Given the description of an element on the screen output the (x, y) to click on. 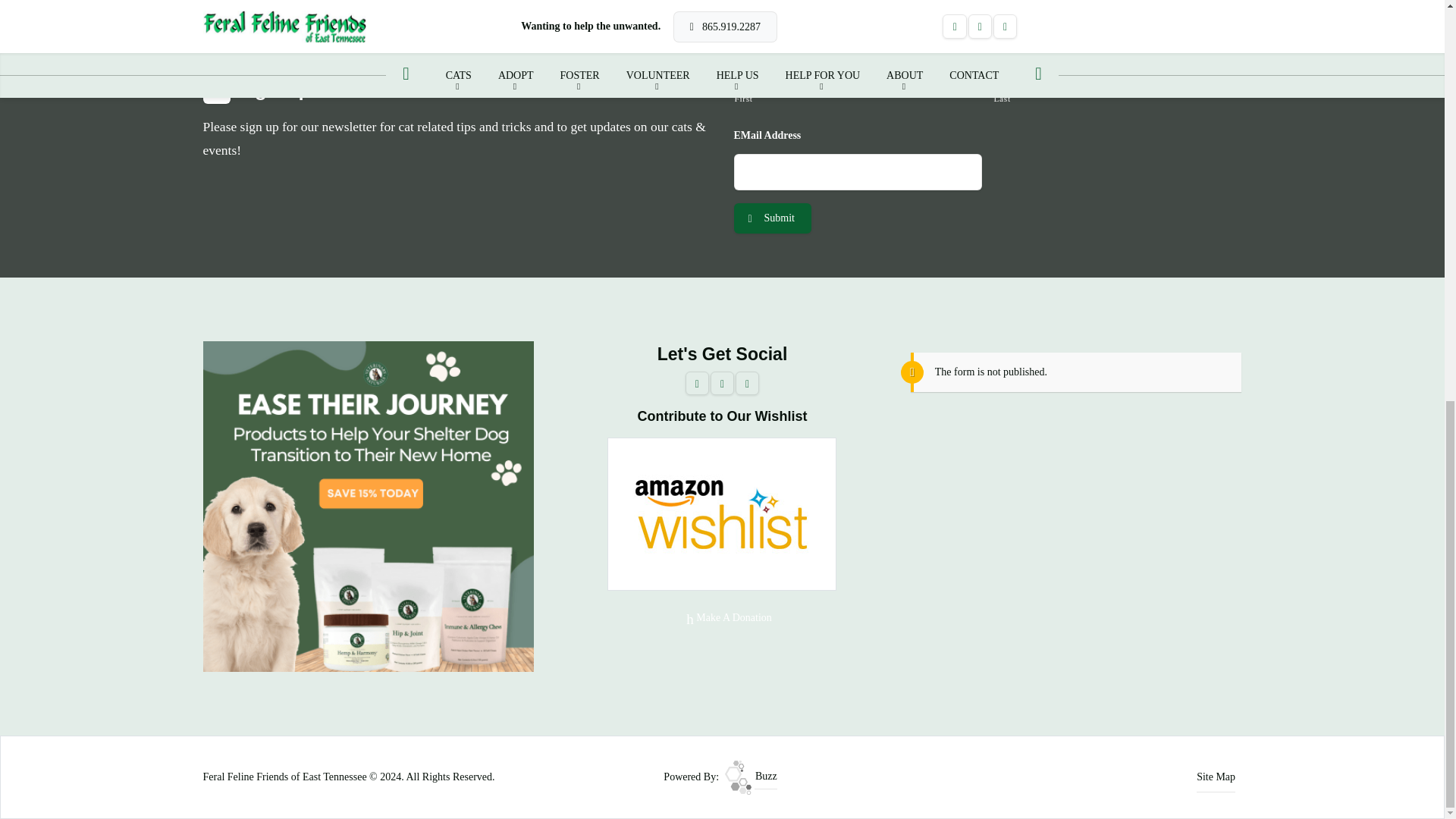
Follow Us on Facebook (697, 383)
Submit (771, 218)
Feral Feline Friends of East Tennessee's Sponsor (368, 505)
